Given the description of an element on the screen output the (x, y) to click on. 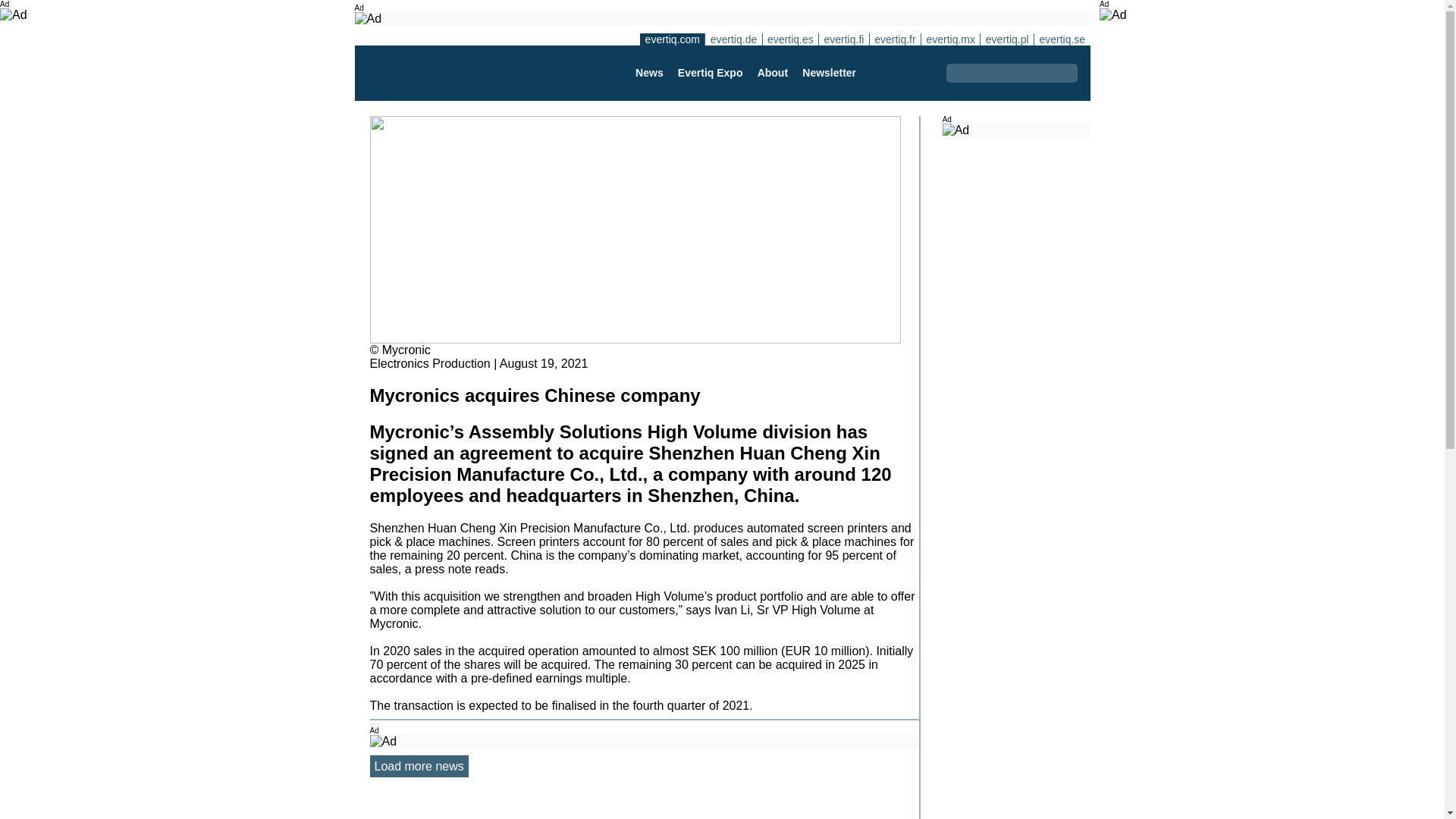
Evertiq AB (442, 72)
evertiq.com (672, 39)
About (771, 72)
evertiq.fi (843, 39)
evertiq.es (789, 39)
News (648, 72)
evertiq.pl (1006, 39)
evertiq.mx (949, 39)
evertiq.fr (894, 39)
evertiq.se (1061, 39)
